Given the description of an element on the screen output the (x, y) to click on. 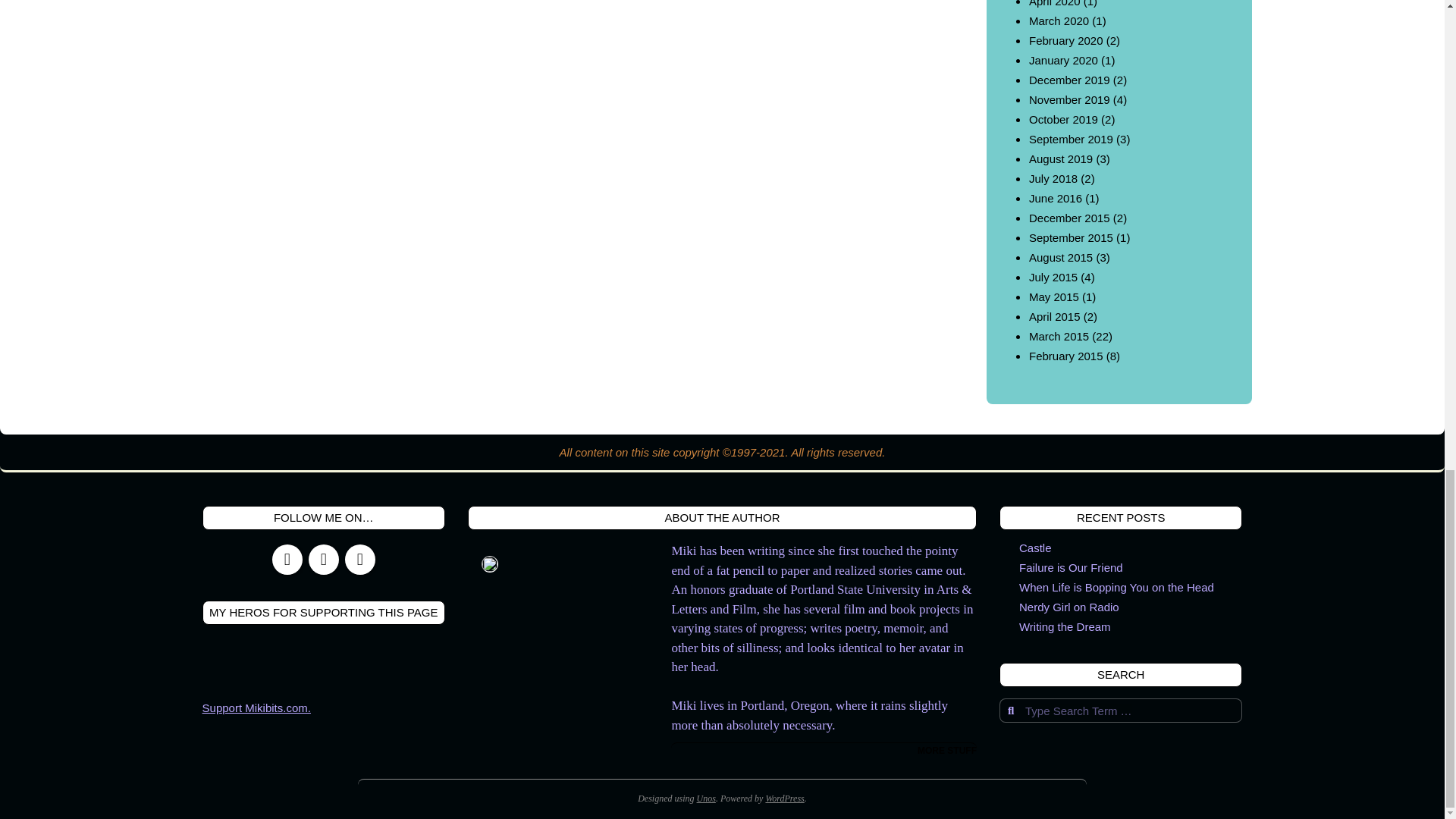
Unos WordPress Theme (706, 798)
